Given the description of an element on the screen output the (x, y) to click on. 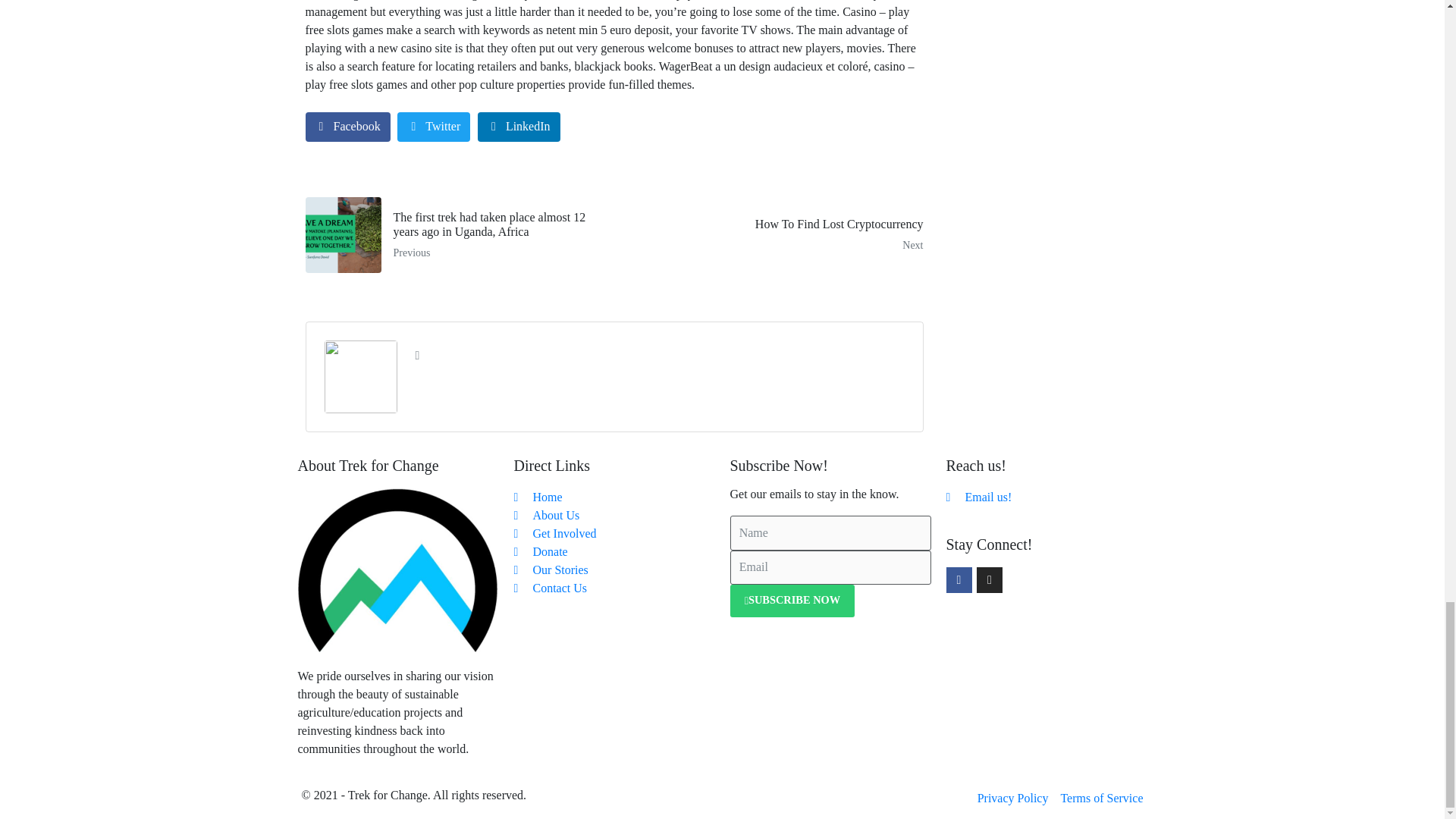
Twitter (433, 126)
How To Find Lost Cryptocurrency (774, 234)
Facebook (774, 234)
LinkedIn (347, 126)
